Given the description of an element on the screen output the (x, y) to click on. 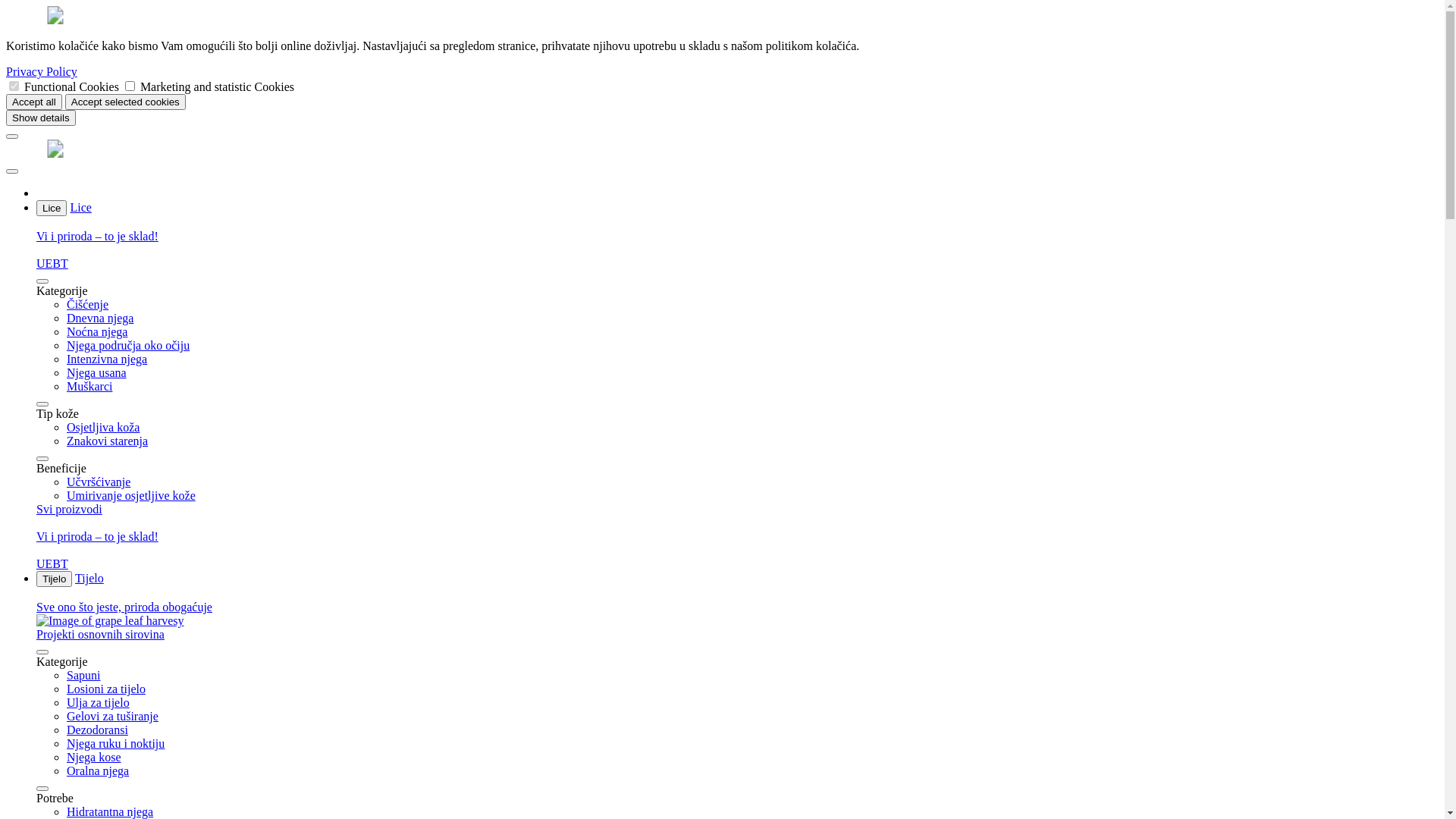
Projekti osnovnih sirovina Element type: text (737, 627)
Intenzivna njega Element type: text (106, 358)
Dnevna njega Element type: text (99, 317)
Tijelo Element type: text (54, 578)
Lice Element type: text (80, 206)
Znakovi starenja Element type: text (106, 440)
Tijelo Element type: text (89, 577)
Privacy Policy Element type: text (41, 71)
Accept selected cookies Element type: text (125, 101)
UEBT Element type: text (737, 256)
Njega usana Element type: text (96, 372)
Dezodoransi Element type: text (97, 729)
Sapuni Element type: text (83, 674)
Lice Element type: text (51, 208)
Njega ruku i noktiju Element type: text (115, 743)
UEBT Element type: text (737, 557)
Njega kose Element type: text (93, 756)
Hidratantna njega Element type: text (109, 811)
Svi proizvodi Element type: text (69, 508)
Losioni za tijelo Element type: text (105, 688)
Accept all Element type: text (34, 101)
Oralna njega Element type: text (97, 770)
Show details Element type: text (40, 117)
Ulja za tijelo Element type: text (97, 702)
